Given the description of an element on the screen output the (x, y) to click on. 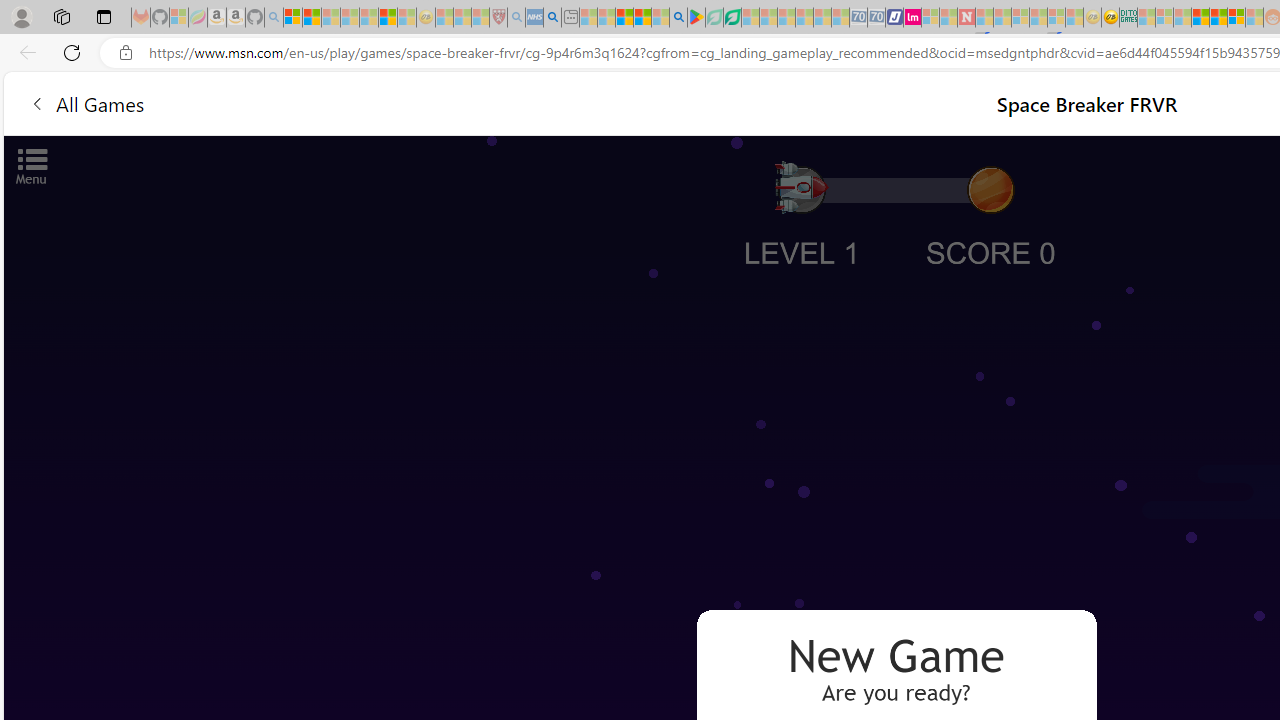
All Games (86, 102)
